Given the description of an element on the screen output the (x, y) to click on. 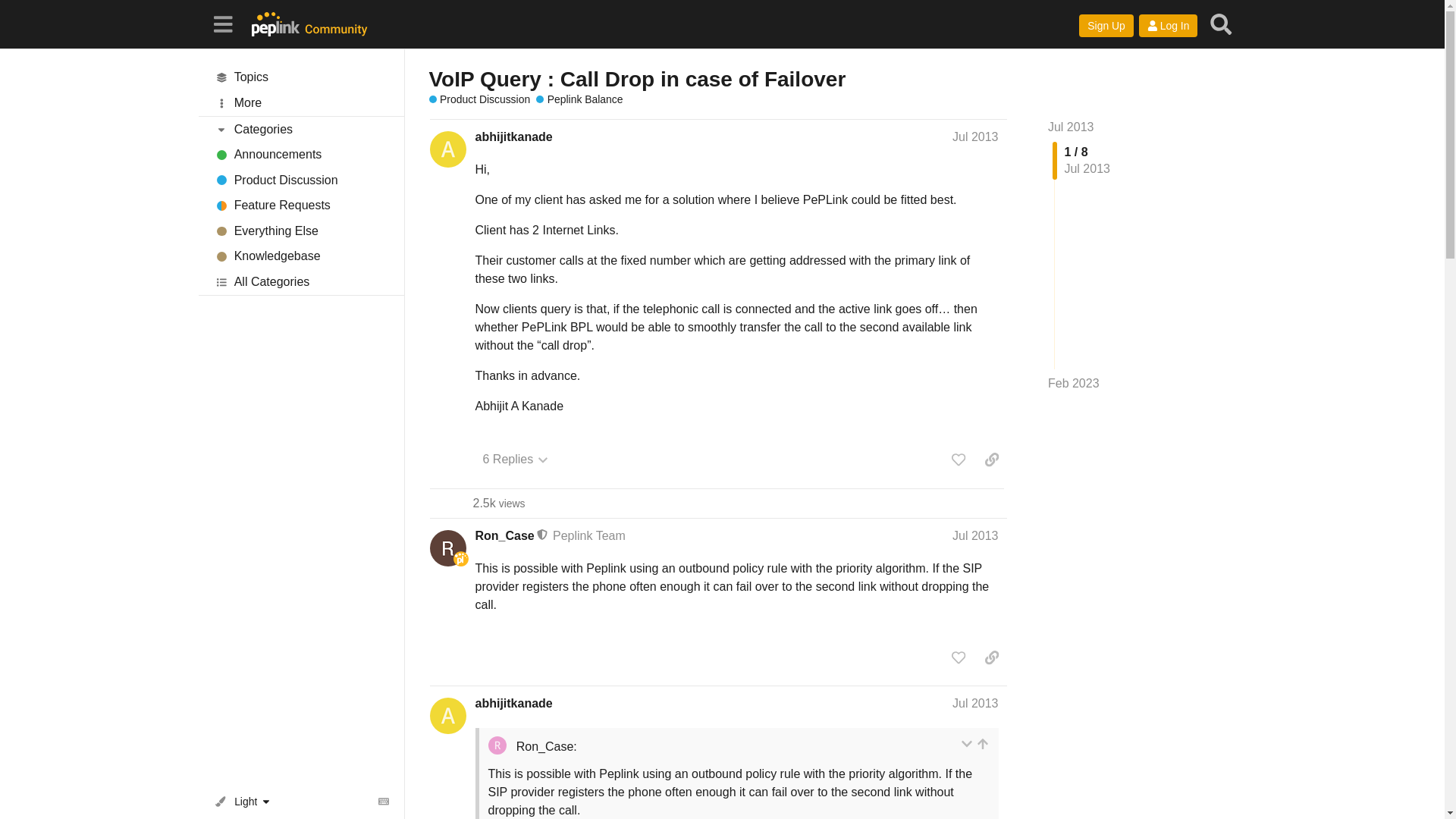
Log In (1168, 25)
Collection of all things Peplink! (301, 231)
6 Replies (515, 459)
Feature Requests (301, 206)
Light (245, 801)
Catch exciting news that we have to share with you. (301, 154)
All Categories (301, 281)
Search (1220, 23)
